Given the description of an element on the screen output the (x, y) to click on. 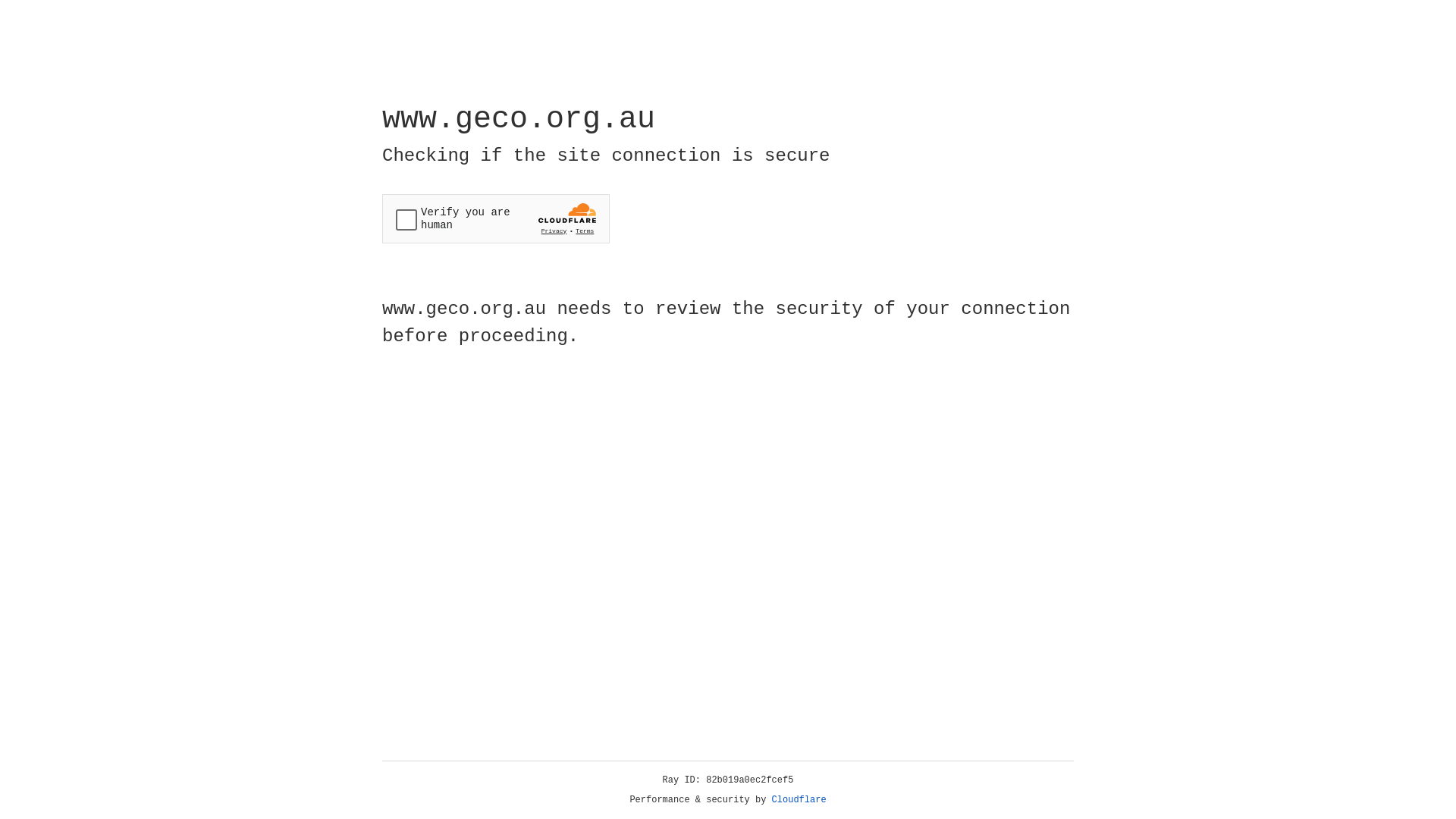
Cloudflare Element type: text (798, 799)
Widget containing a Cloudflare security challenge Element type: hover (495, 218)
